Given the description of an element on the screen output the (x, y) to click on. 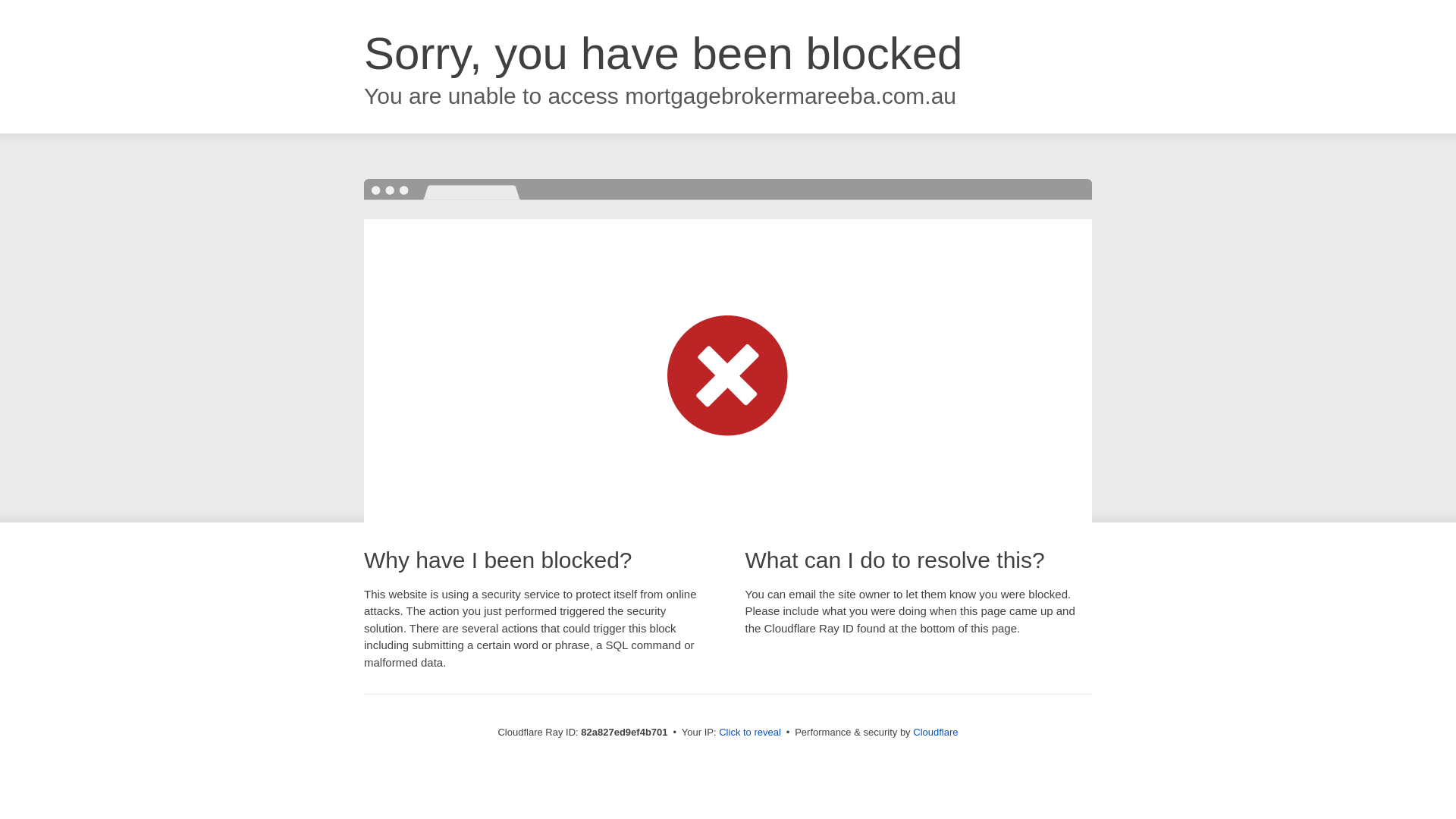
Click to reveal Element type: text (749, 732)
Cloudflare Element type: text (935, 731)
